Given the description of an element on the screen output the (x, y) to click on. 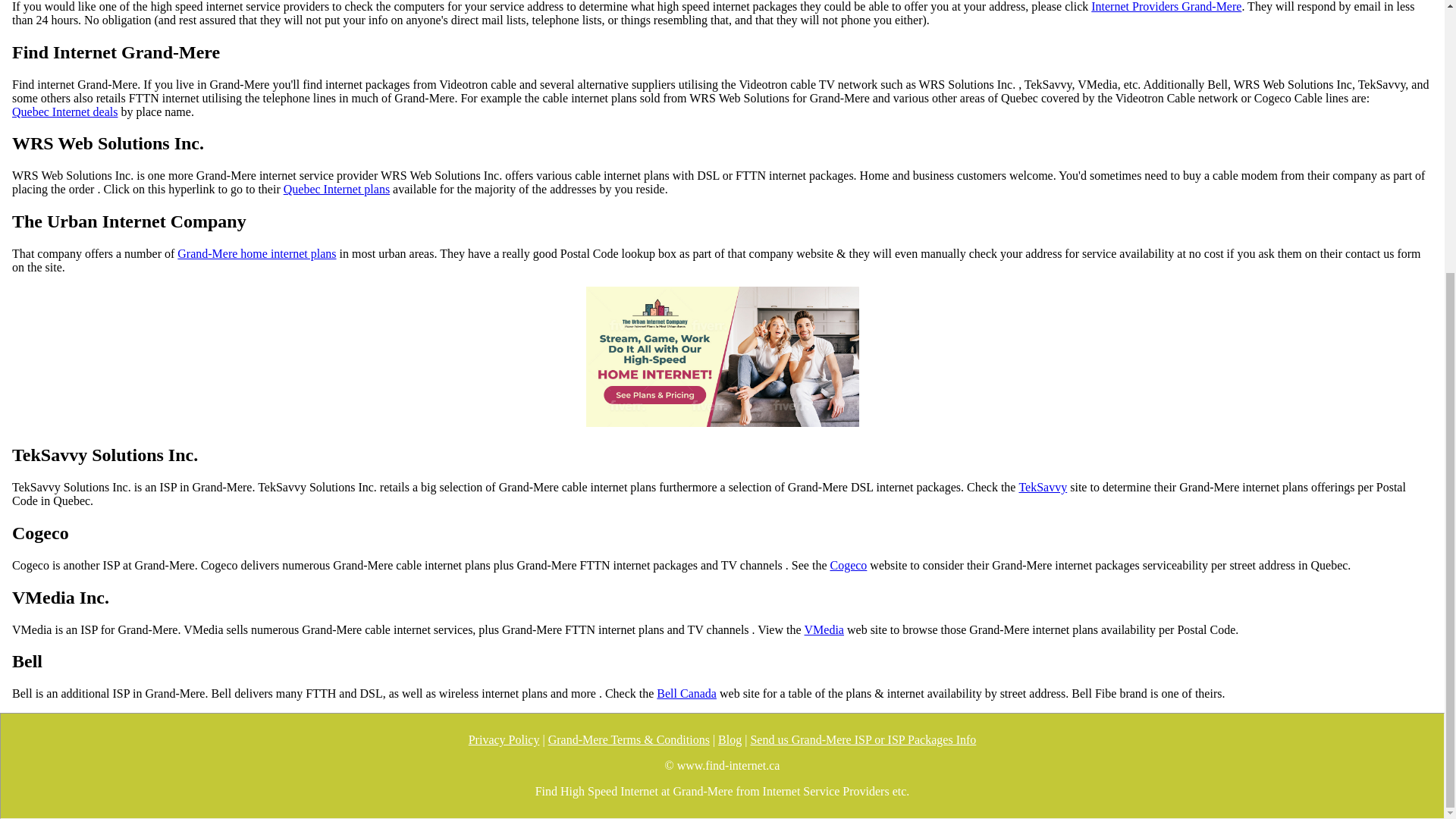
TekSavvy (1042, 487)
Blog (729, 739)
Grand-Mere home internet plans (256, 254)
Cogeco (847, 565)
VMedia (824, 630)
Privacy Policy (504, 739)
Bell Canada (686, 694)
Internet Providers Grand-Mere (1165, 6)
Quebec Internet deals (64, 110)
Quebec Internet plans (336, 189)
Send us Grand-Mere ISP or ISP Packages Info (862, 739)
